Given the description of an element on the screen output the (x, y) to click on. 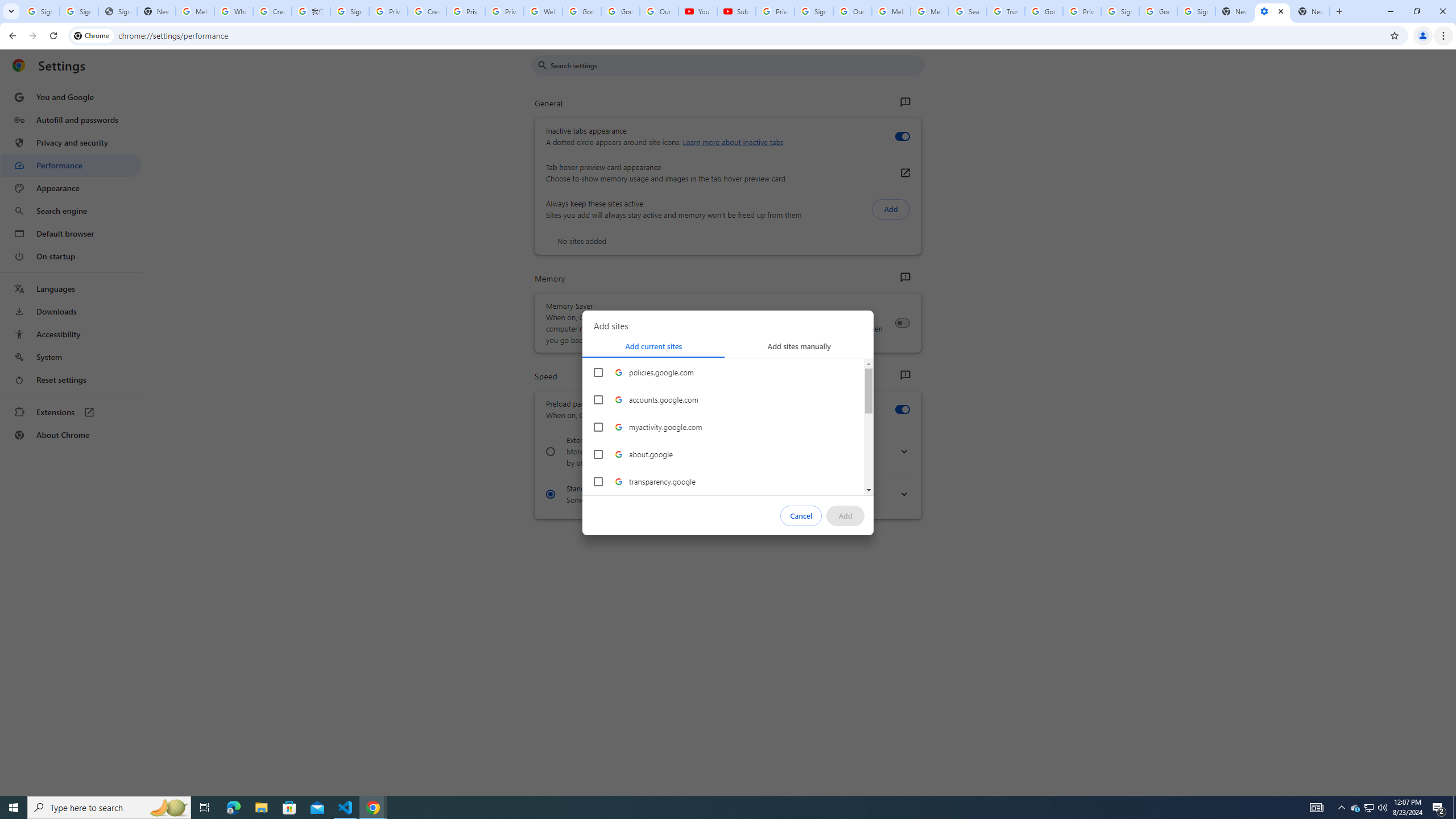
Who is my administrator? - Google Account Help (233, 11)
YouTube (697, 11)
Sign in - Google Accounts (1120, 11)
Add (845, 515)
Sign In - USA TODAY (117, 11)
Google Cybersecurity Innovations - Google Safety Center (1158, 11)
policies.google.com (722, 372)
Add sites manually (799, 345)
